Given the description of an element on the screen output the (x, y) to click on. 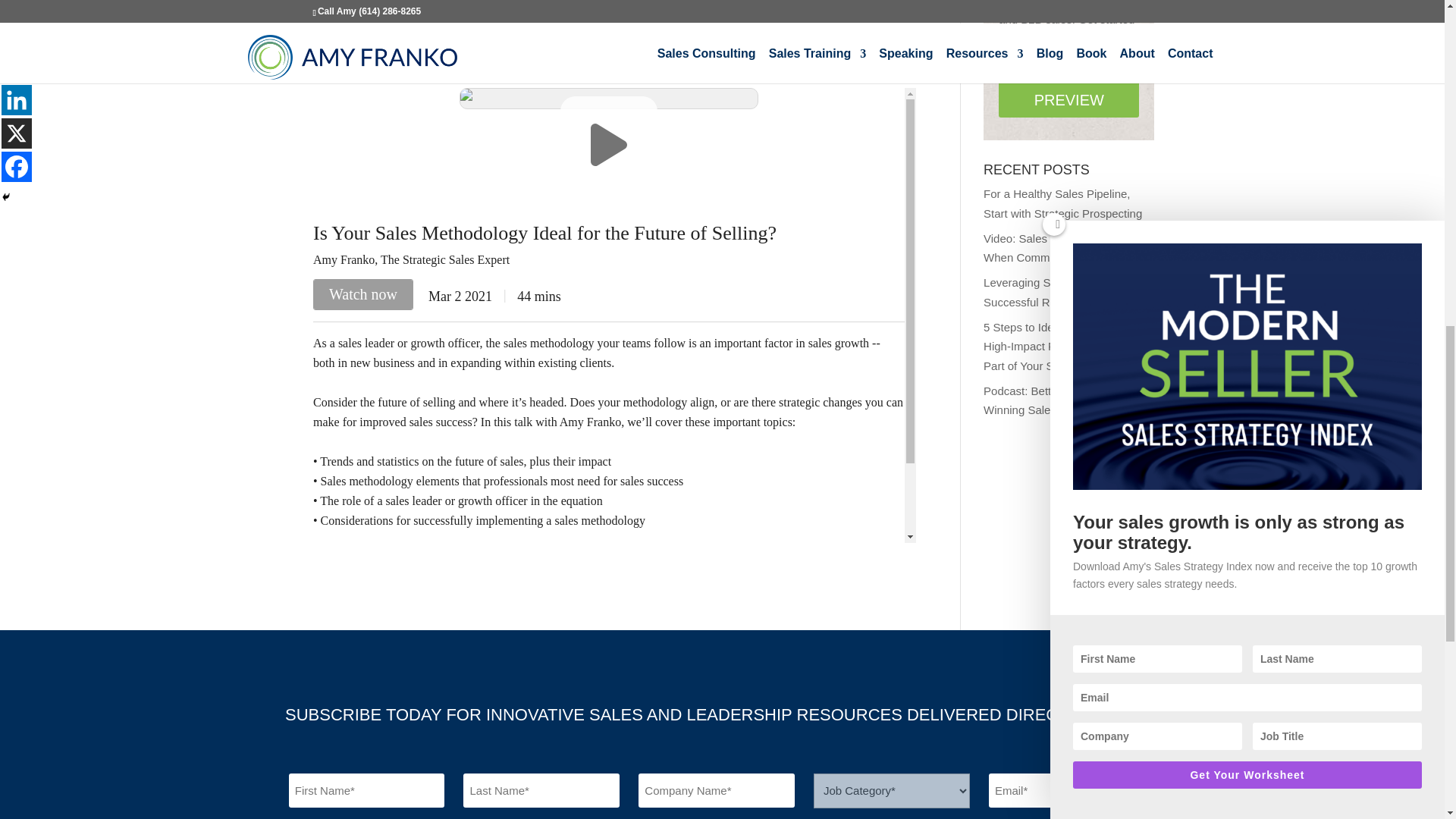
5 Keys to a Successful Sales Training Methodology (740, 47)
